Given the description of an element on the screen output the (x, y) to click on. 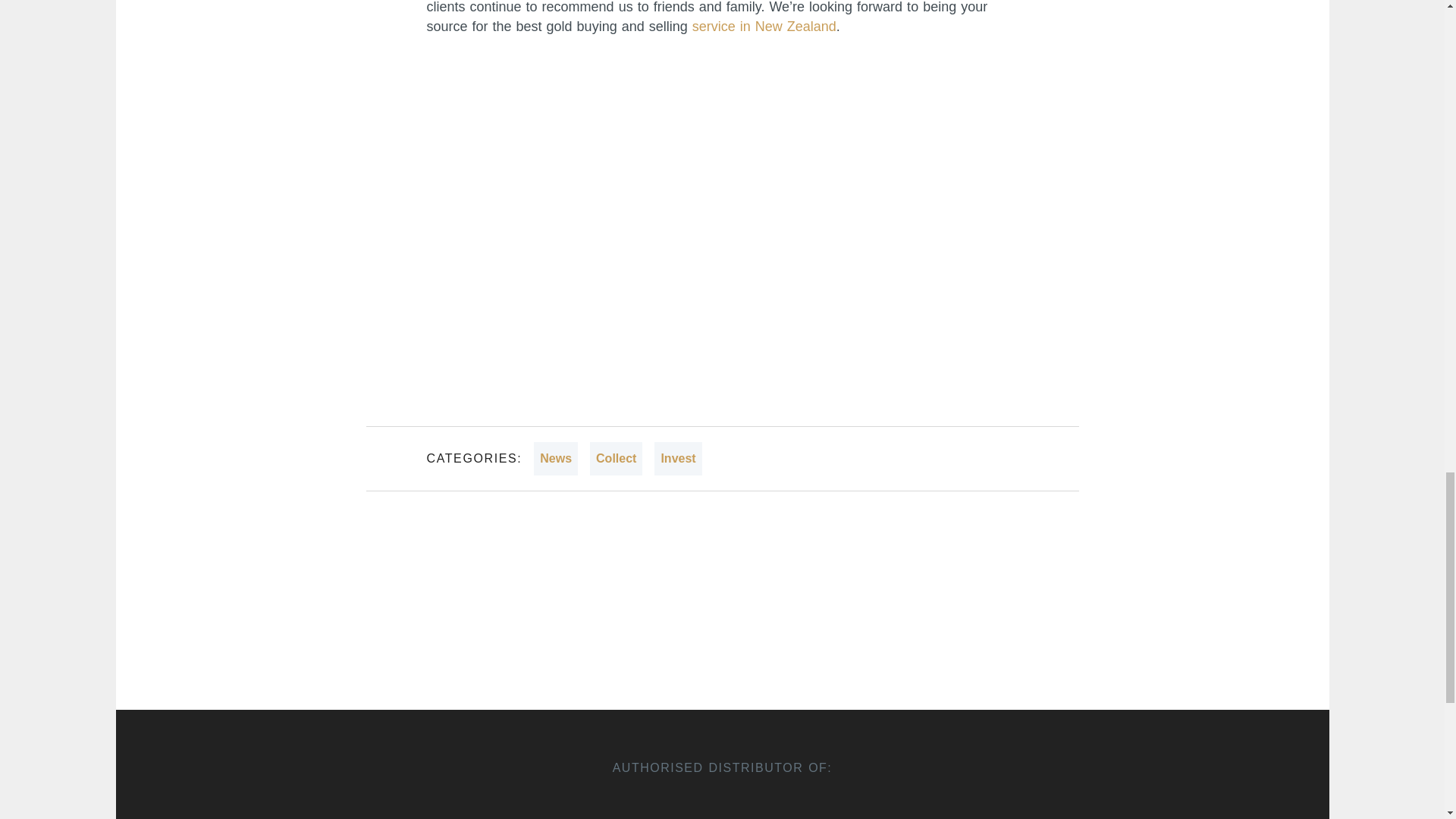
News (556, 458)
service in New Zealand (764, 26)
